Given the description of an element on the screen output the (x, y) to click on. 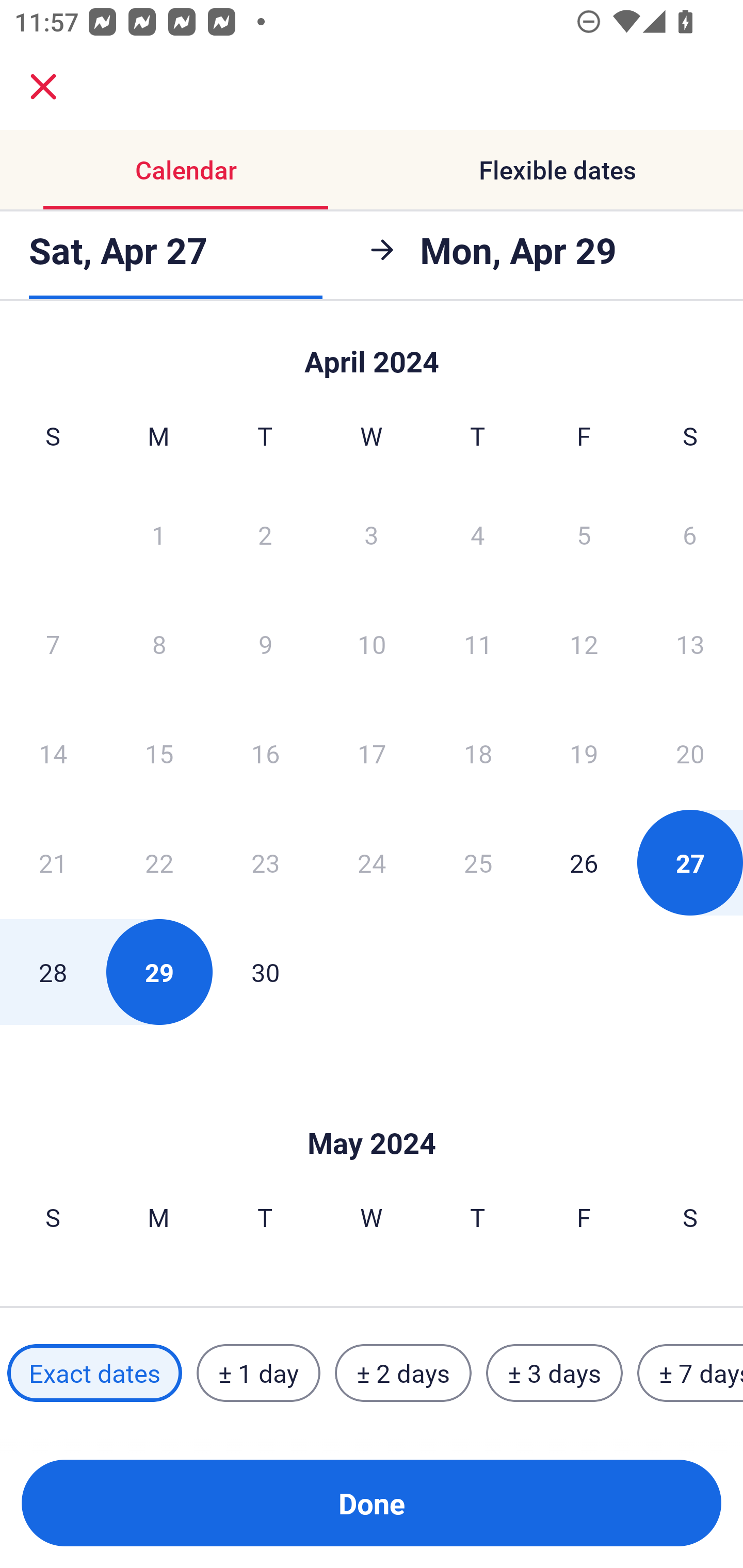
close. (43, 86)
Flexible dates (557, 170)
Skip to Done (371, 352)
1 Monday, April 1, 2024 (158, 534)
2 Tuesday, April 2, 2024 (264, 534)
3 Wednesday, April 3, 2024 (371, 534)
4 Thursday, April 4, 2024 (477, 534)
5 Friday, April 5, 2024 (583, 534)
6 Saturday, April 6, 2024 (689, 534)
7 Sunday, April 7, 2024 (53, 643)
8 Monday, April 8, 2024 (159, 643)
9 Tuesday, April 9, 2024 (265, 643)
10 Wednesday, April 10, 2024 (371, 643)
11 Thursday, April 11, 2024 (477, 643)
12 Friday, April 12, 2024 (584, 643)
13 Saturday, April 13, 2024 (690, 643)
14 Sunday, April 14, 2024 (53, 752)
15 Monday, April 15, 2024 (159, 752)
16 Tuesday, April 16, 2024 (265, 752)
17 Wednesday, April 17, 2024 (371, 752)
18 Thursday, April 18, 2024 (477, 752)
19 Friday, April 19, 2024 (584, 752)
20 Saturday, April 20, 2024 (690, 752)
21 Sunday, April 21, 2024 (53, 862)
22 Monday, April 22, 2024 (159, 862)
23 Tuesday, April 23, 2024 (265, 862)
24 Wednesday, April 24, 2024 (371, 862)
25 Thursday, April 25, 2024 (477, 862)
26 Friday, April 26, 2024 (584, 862)
30 Tuesday, April 30, 2024 (265, 971)
Skip to Done (371, 1112)
Exact dates (94, 1372)
± 1 day (258, 1372)
± 2 days (403, 1372)
± 3 days (553, 1372)
± 7 days (690, 1372)
Done (371, 1502)
